Given the description of an element on the screen output the (x, y) to click on. 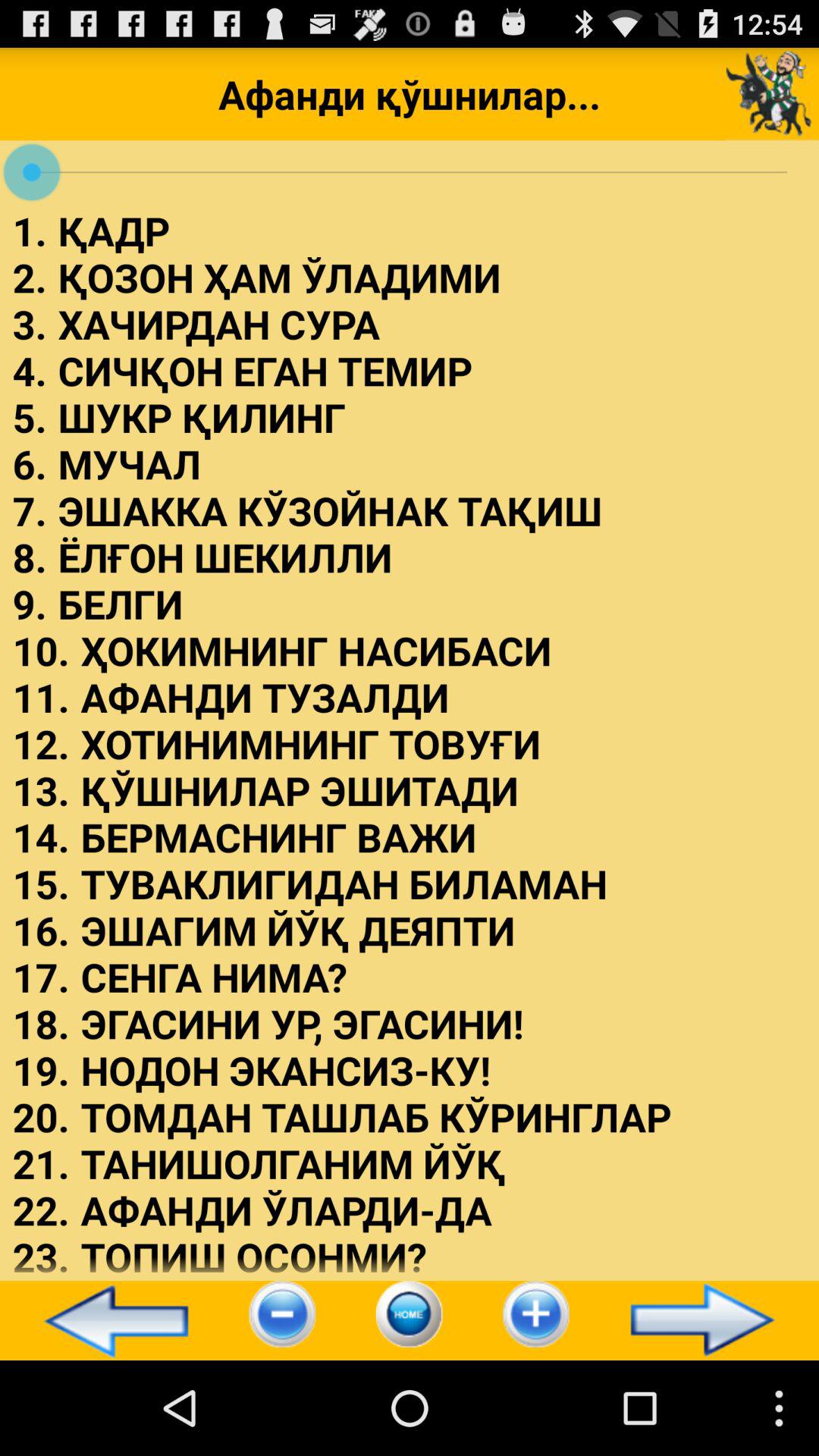
open icon at the bottom right corner (709, 1320)
